Given the description of an element on the screen output the (x, y) to click on. 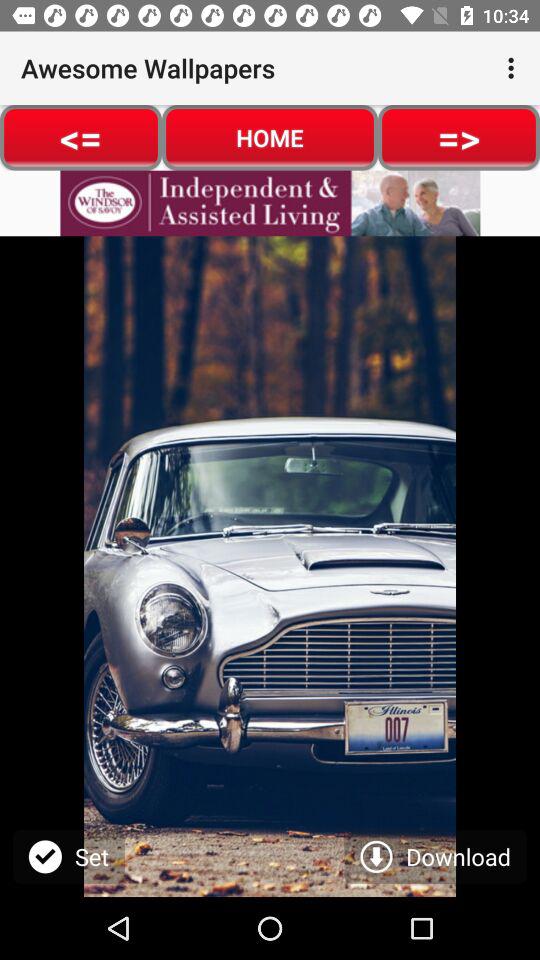
independent (270, 203)
